Given the description of an element on the screen output the (x, y) to click on. 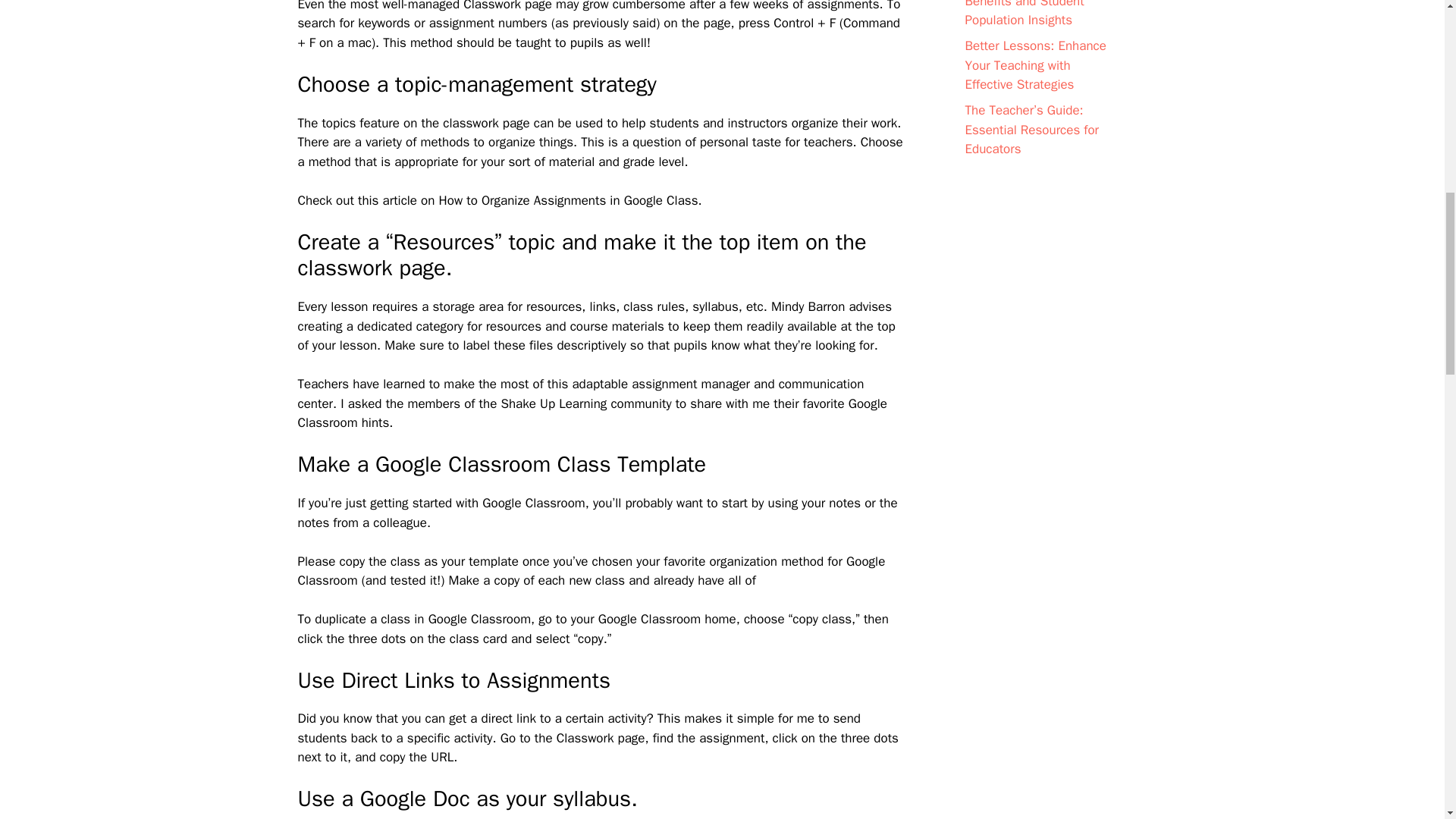
Scroll back to top (1406, 720)
teachers (828, 141)
